Given the description of an element on the screen output the (x, y) to click on. 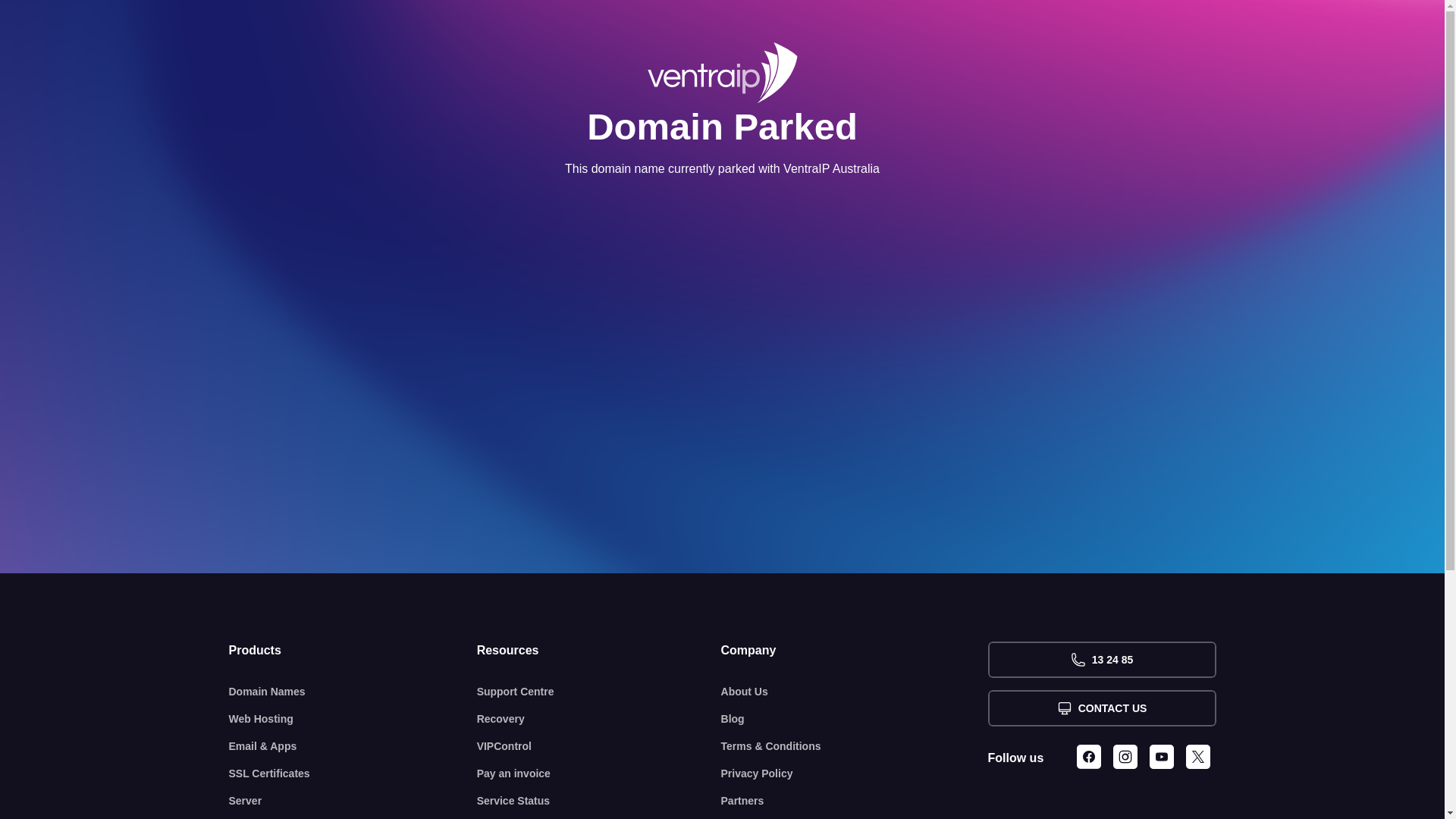
Pay an invoice Element type: text (598, 773)
CONTACT US Element type: text (1101, 708)
Terms & Conditions Element type: text (854, 745)
VIPControl Element type: text (598, 745)
Recovery Element type: text (598, 718)
Domain Names Element type: text (352, 691)
Blog Element type: text (854, 718)
Service Status Element type: text (598, 800)
Web Hosting Element type: text (352, 718)
SSL Certificates Element type: text (352, 773)
13 24 85 Element type: text (1101, 659)
Privacy Policy Element type: text (854, 773)
Server Element type: text (352, 800)
Support Centre Element type: text (598, 691)
About Us Element type: text (854, 691)
Email & Apps Element type: text (352, 745)
Partners Element type: text (854, 800)
